Given the description of an element on the screen output the (x, y) to click on. 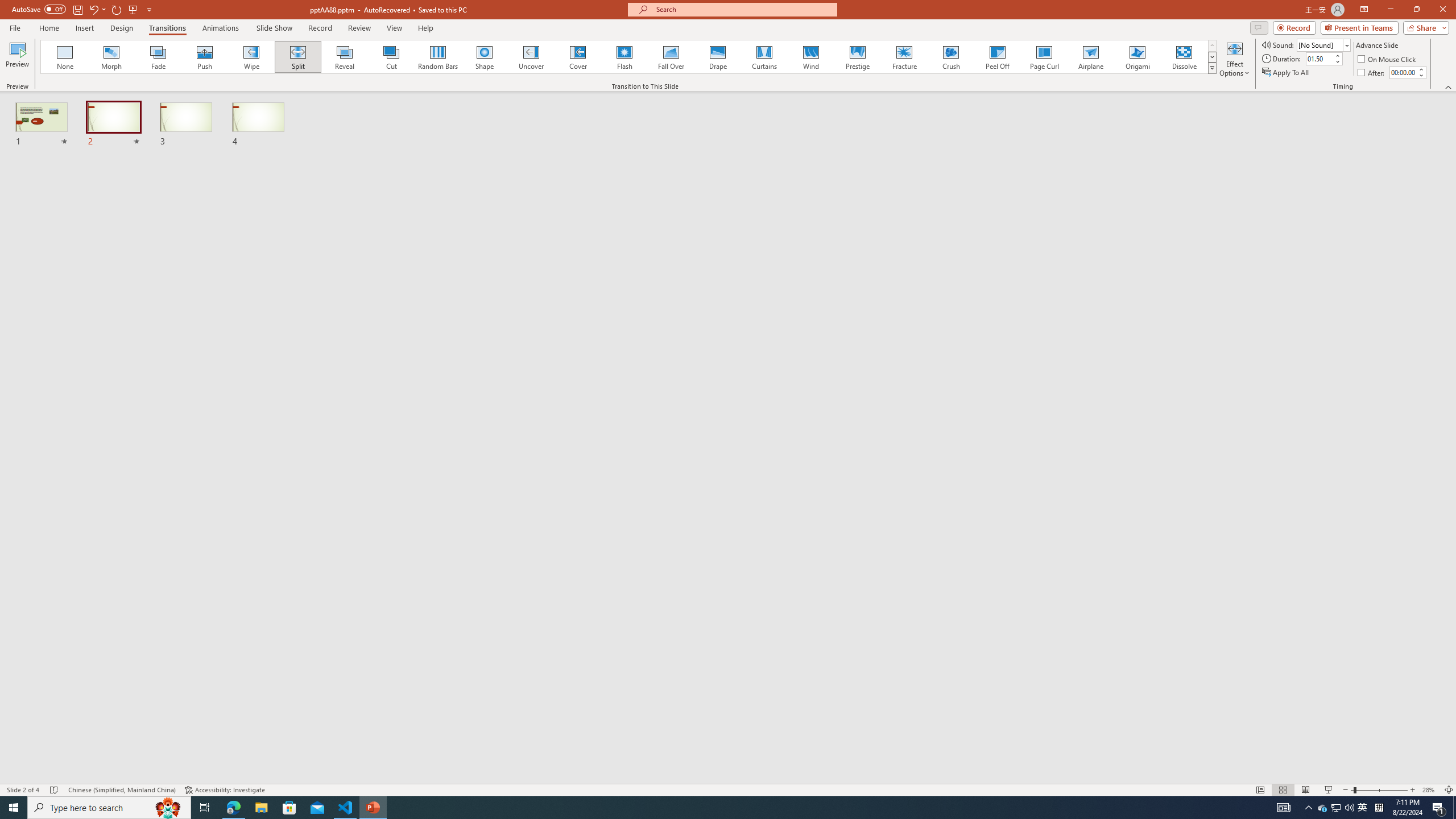
Fall Over (670, 56)
Prestige (857, 56)
Page Curl (1043, 56)
Wind (810, 56)
Flash (624, 56)
Duration (1319, 58)
